Given the description of an element on the screen output the (x, y) to click on. 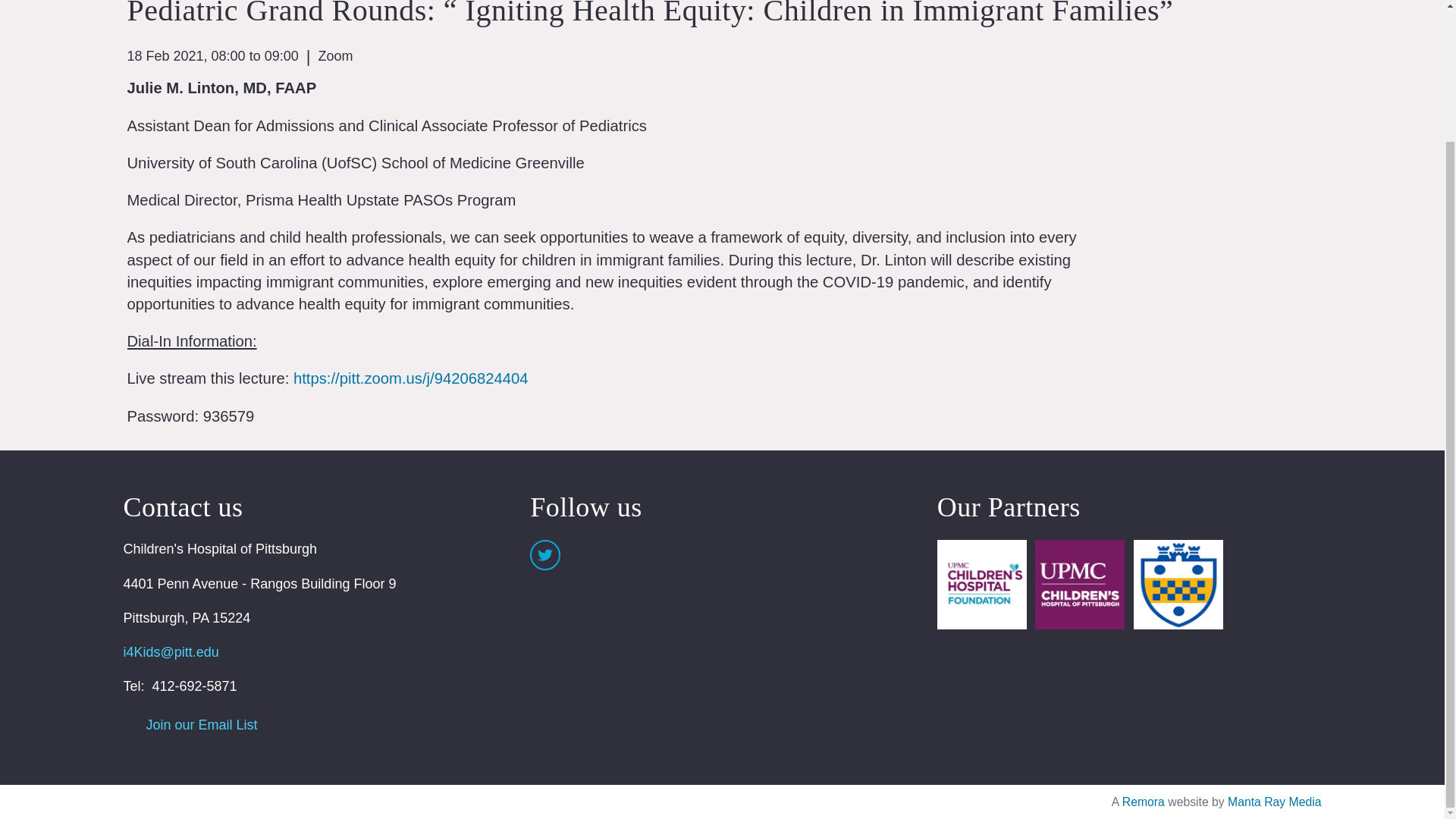
Remora (1143, 801)
Join our Email List (200, 725)
Twitter (544, 554)
Manta Ray Media (1273, 801)
